Given the description of an element on the screen output the (x, y) to click on. 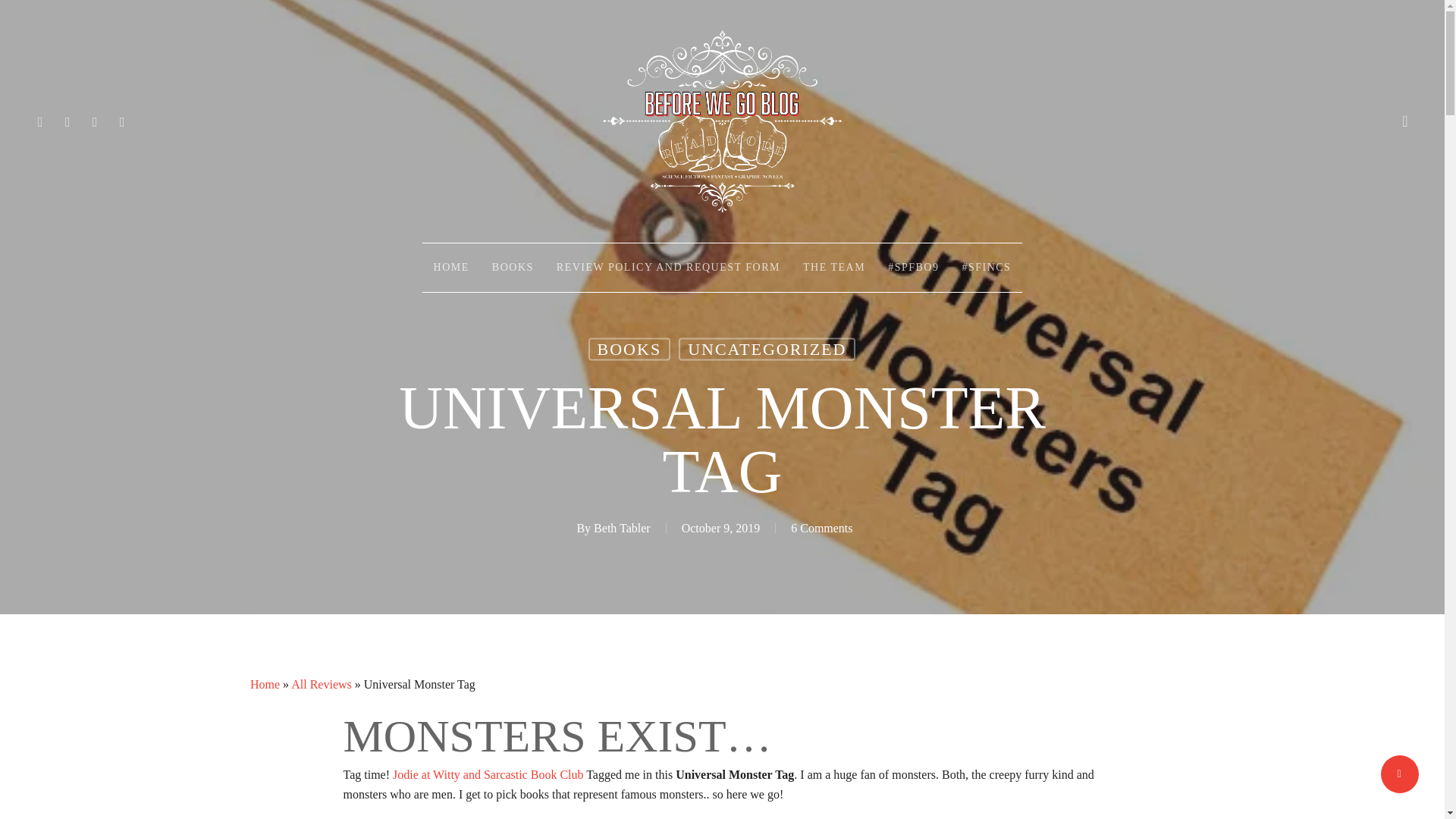
Posts by Beth Tabler (622, 527)
Beth Tabler (622, 527)
Home (264, 684)
REVIEW POLICY AND REQUEST FORM (668, 267)
PINTEREST (95, 121)
All Reviews (321, 684)
HOME (451, 267)
BOOKS (512, 267)
Jodie at Witty and Sarcastic Book Club (488, 774)
BOOKS (629, 349)
search (1404, 121)
INSTAGRAM (122, 121)
THE TEAM (834, 267)
TWITTER (41, 121)
6 Comments (820, 527)
